Given the description of an element on the screen output the (x, y) to click on. 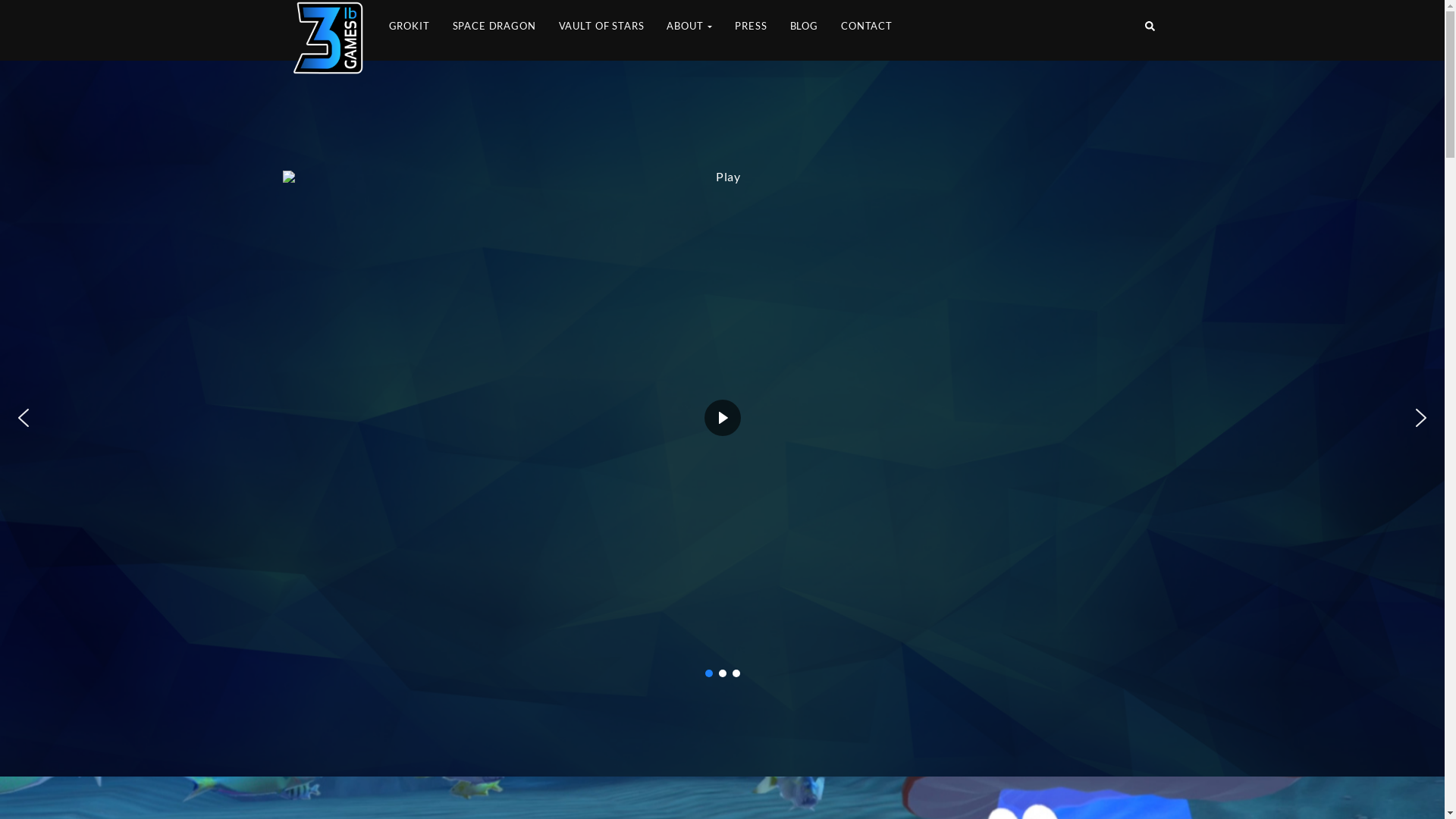
BLOG Element type: text (804, 30)
VAULT OF STARS Element type: text (601, 30)
SPACE DRAGON Element type: text (494, 30)
ABOUT Element type: text (689, 30)
CONTACT Element type: text (866, 30)
PRESS Element type: text (750, 30)
GROKIT Element type: text (408, 30)
